Given the description of an element on the screen output the (x, y) to click on. 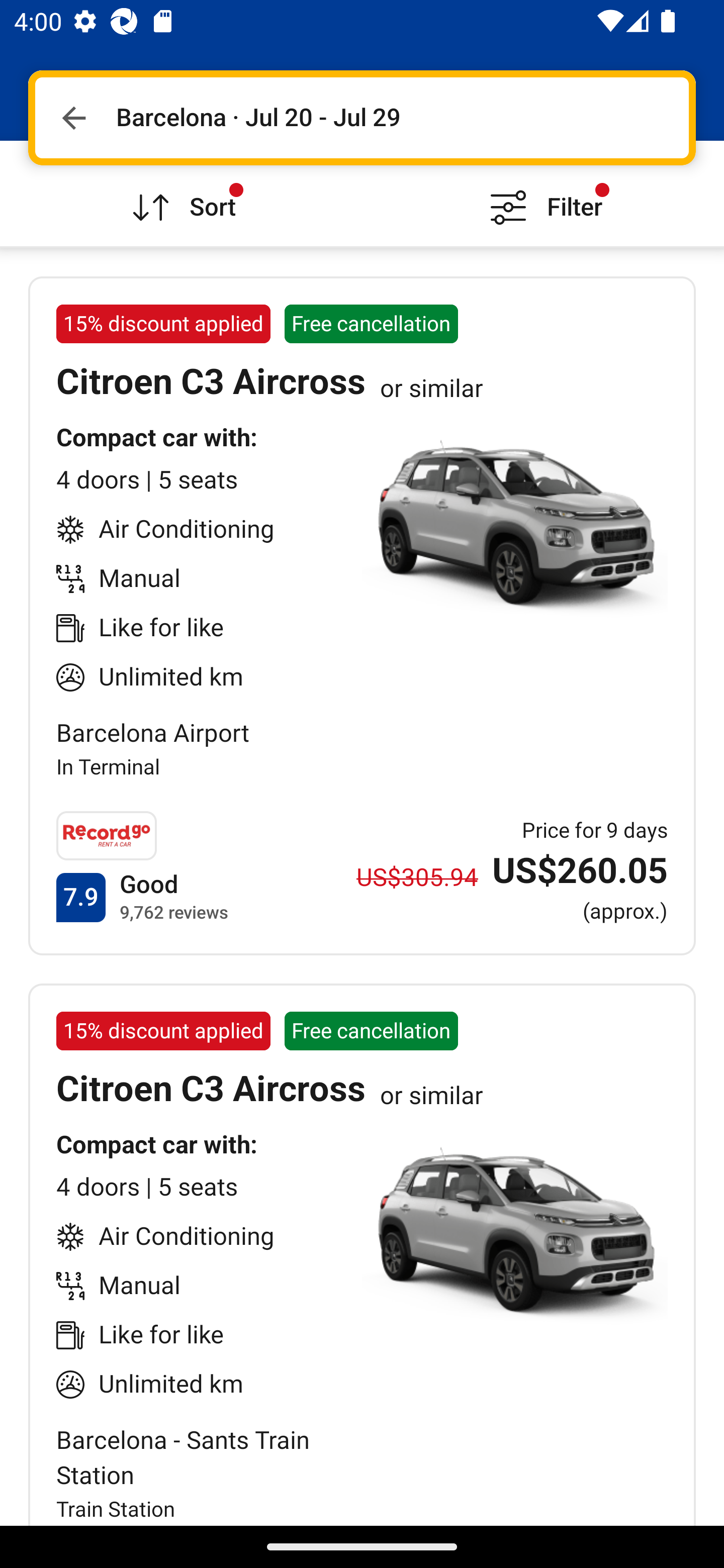
Back to previous screen (73, 117)
Sort (181, 193)
Filter (543, 193)
